Given the description of an element on the screen output the (x, y) to click on. 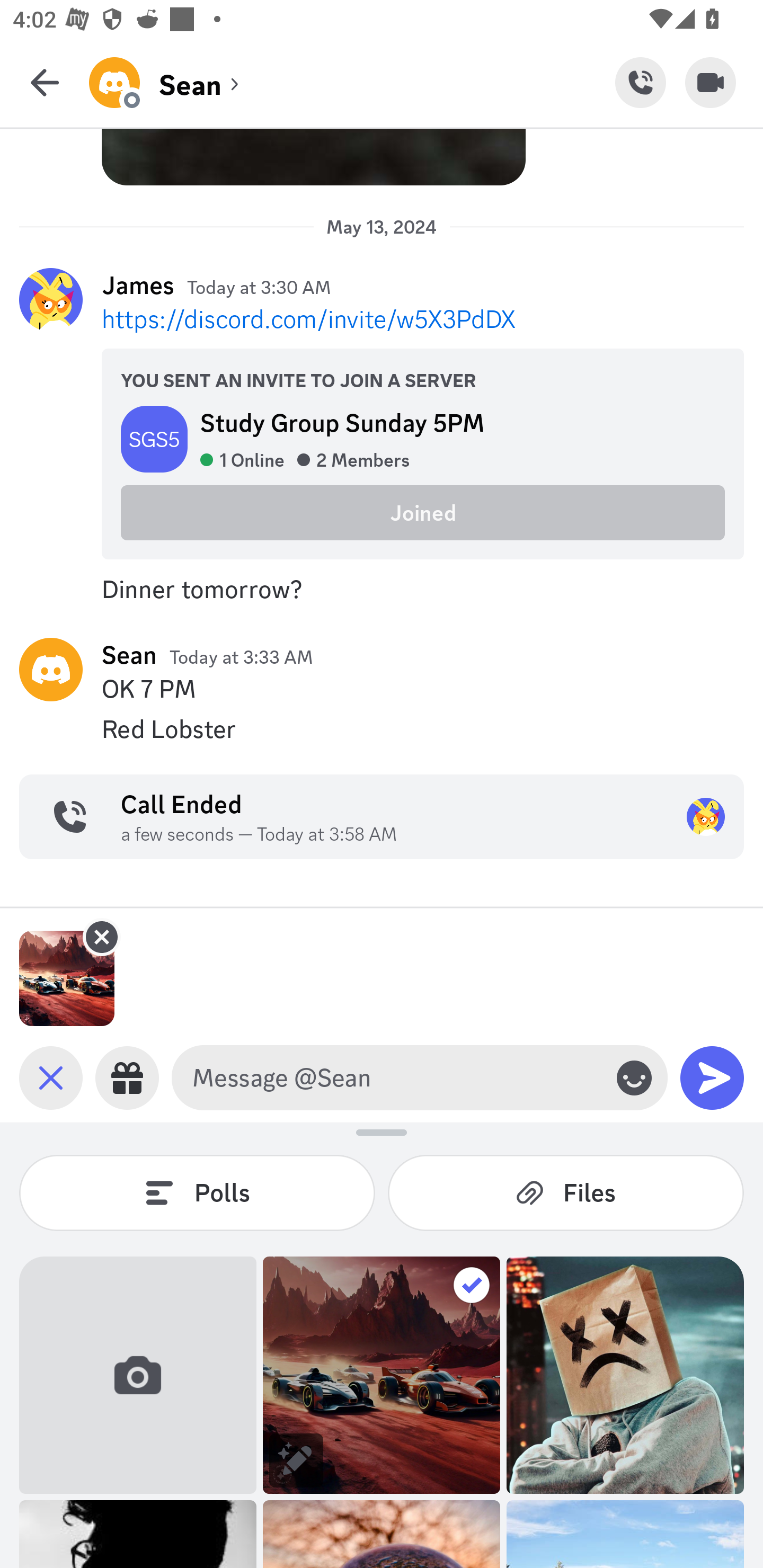
Sean (channel) Sean Sean (channel) (351, 82)
Back (44, 82)
Start Voice Call (640, 82)
Start Video Call (710, 82)
James (137, 285)
Joined (422, 512)
ssseannn007., Dinner tomorrow? Dinner tomorrow? (381, 589)
Sean (129, 654)
yuxiang.007, Red Lobster Red Lobster (381, 728)
Call Ended a few seconds — Today at 3:58 AM (381, 816)
Message Attachment, IMG-20240508-WA0000.jpg (66, 978)
Toggle media keyboard (50, 1077)
Send a gift (126, 1077)
Send (711, 1077)
Message @Sean (395, 1077)
Toggle emoji keyboard (634, 1077)
Polls (197, 1192)
Files (565, 1192)
Camera (137, 1374)
Photo Remix (381, 1374)
Photo (624, 1374)
Remix (296, 1460)
